Given the description of an element on the screen output the (x, y) to click on. 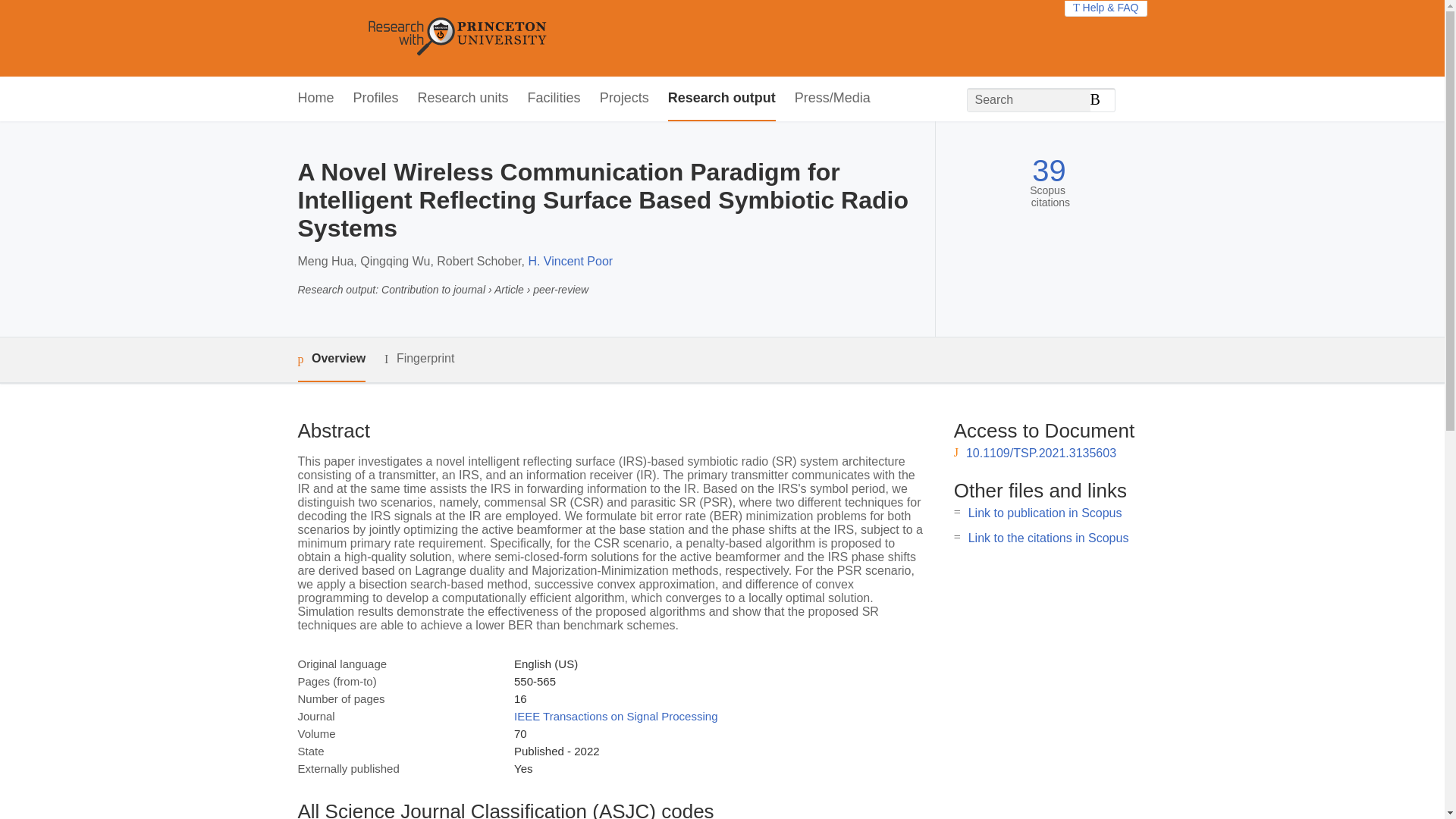
Link to publication in Scopus (1045, 512)
Link to the citations in Scopus (1048, 537)
Fingerprint (419, 358)
39 (1048, 171)
IEEE Transactions on Signal Processing (615, 716)
H. Vincent Poor (569, 260)
Profiles (375, 98)
Projects (624, 98)
Research output (722, 98)
Princeton University Home (567, 38)
Facilities (553, 98)
Research units (462, 98)
Overview (331, 359)
